Given the description of an element on the screen output the (x, y) to click on. 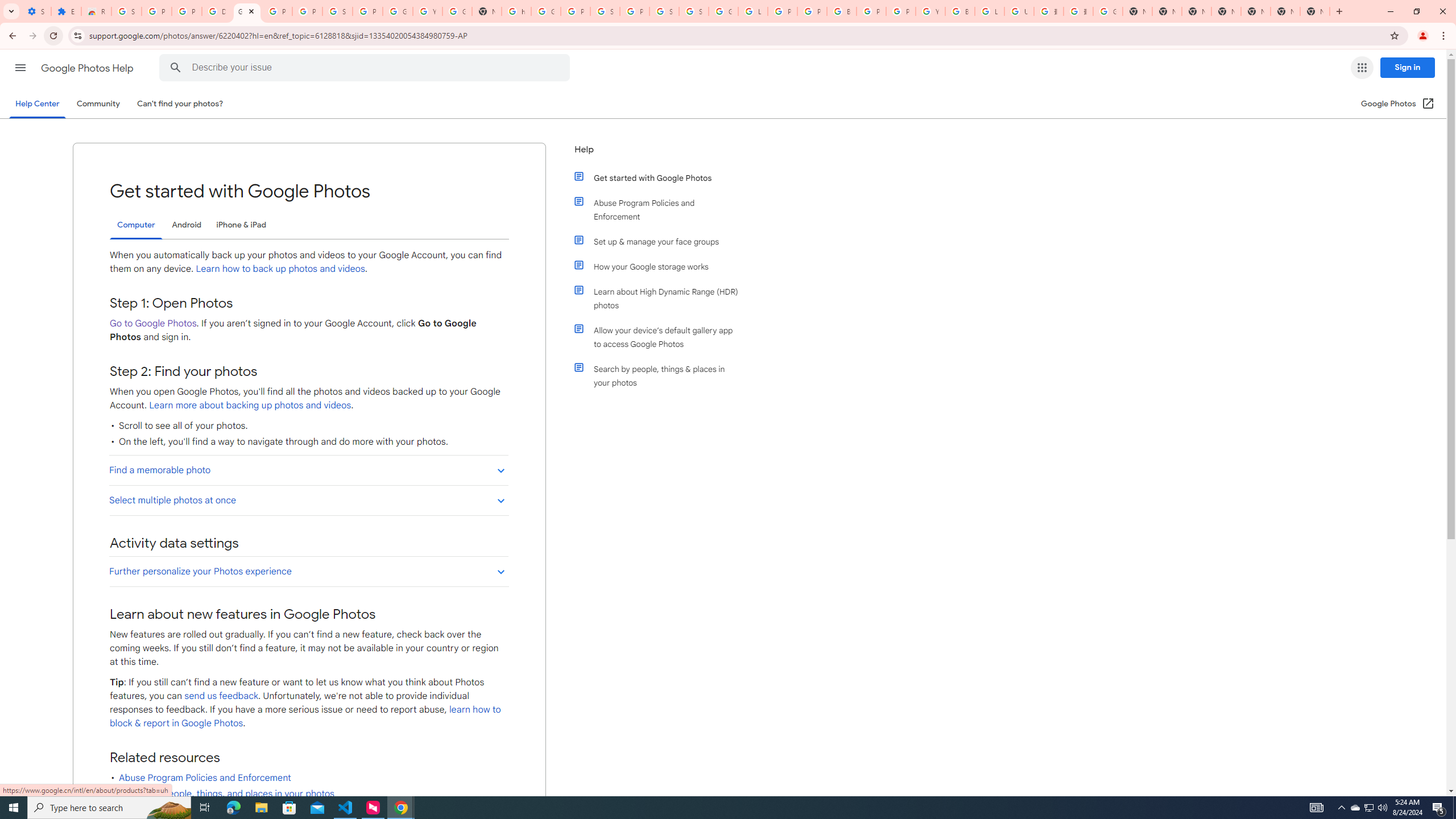
Computer (136, 225)
learn how to block & report in Google Photos (304, 716)
Delete photos & videos - Computer - Google Photos Help (216, 11)
Get started with Google Photos (661, 177)
Find a memorable photo (308, 469)
Sign in - Google Accounts (337, 11)
Search by people, things, and places in your photos (226, 793)
Privacy Help Center - Policies Help (811, 11)
Help Center (36, 103)
https://scholar.google.com/ (515, 11)
